Given the description of an element on the screen output the (x, y) to click on. 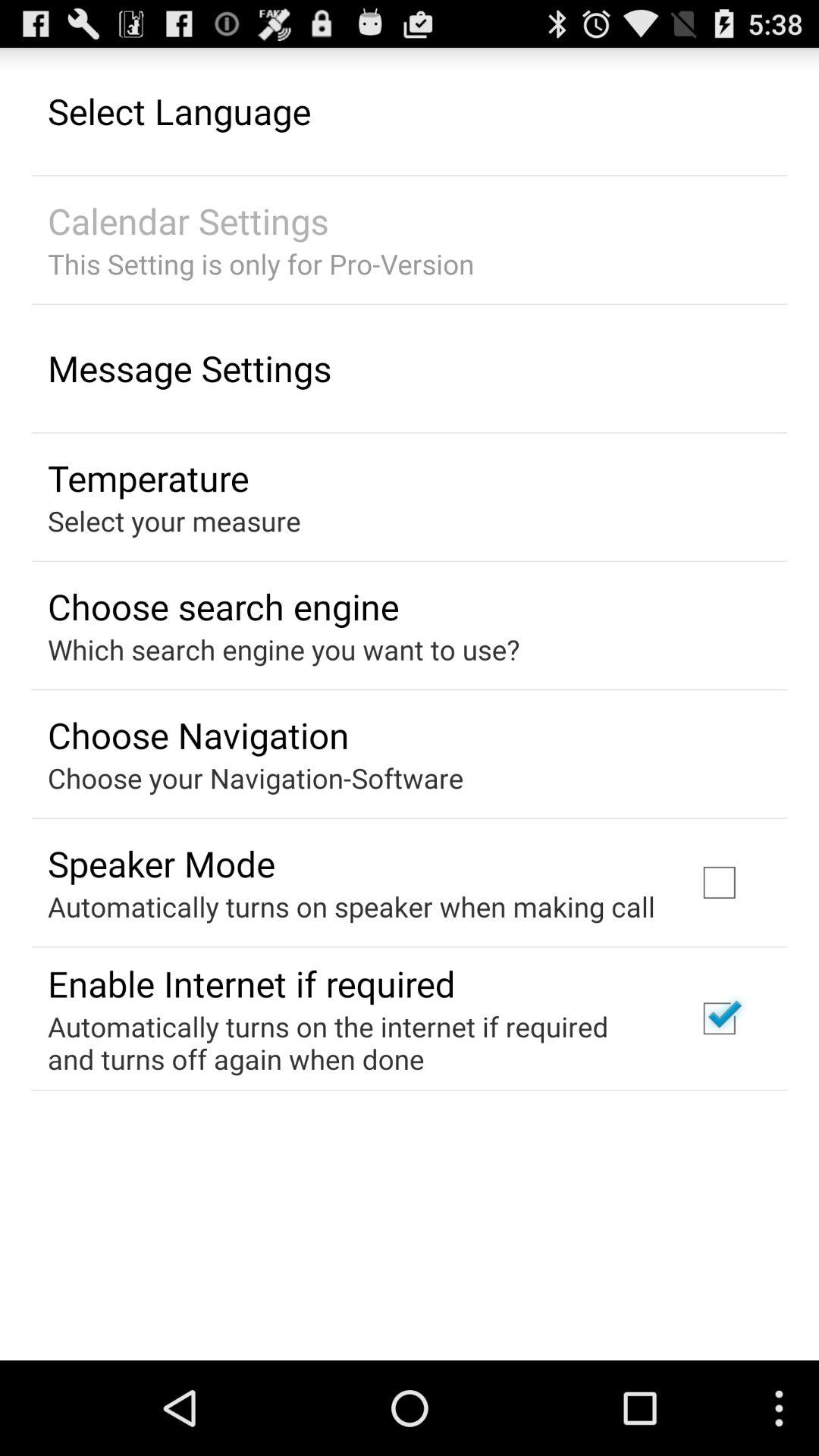
click the item above the automatically turns on item (161, 863)
